Given the description of an element on the screen output the (x, y) to click on. 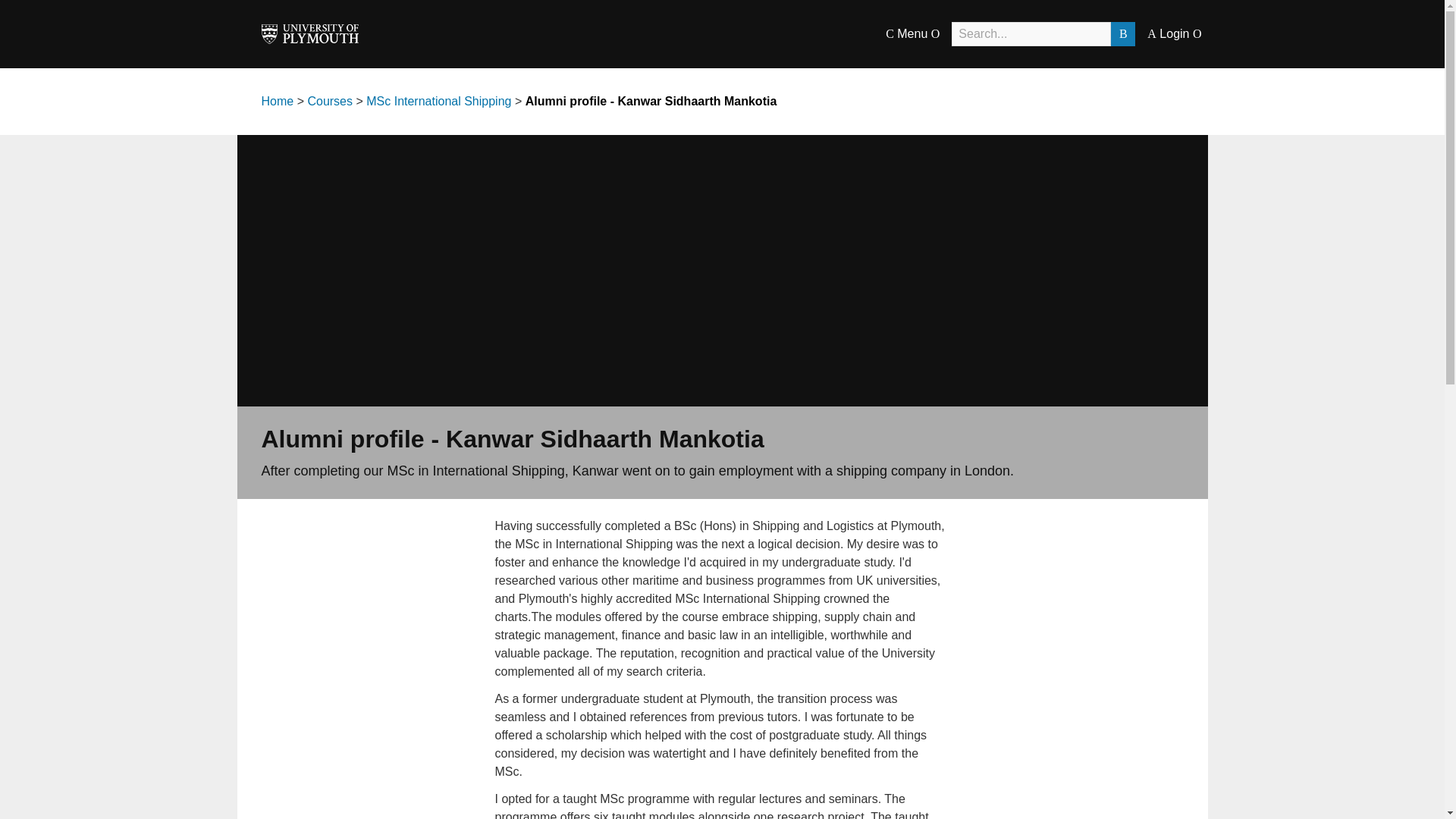
A Login O (1174, 33)
B (1122, 33)
C Menu O (911, 33)
